Given the description of an element on the screen output the (x, y) to click on. 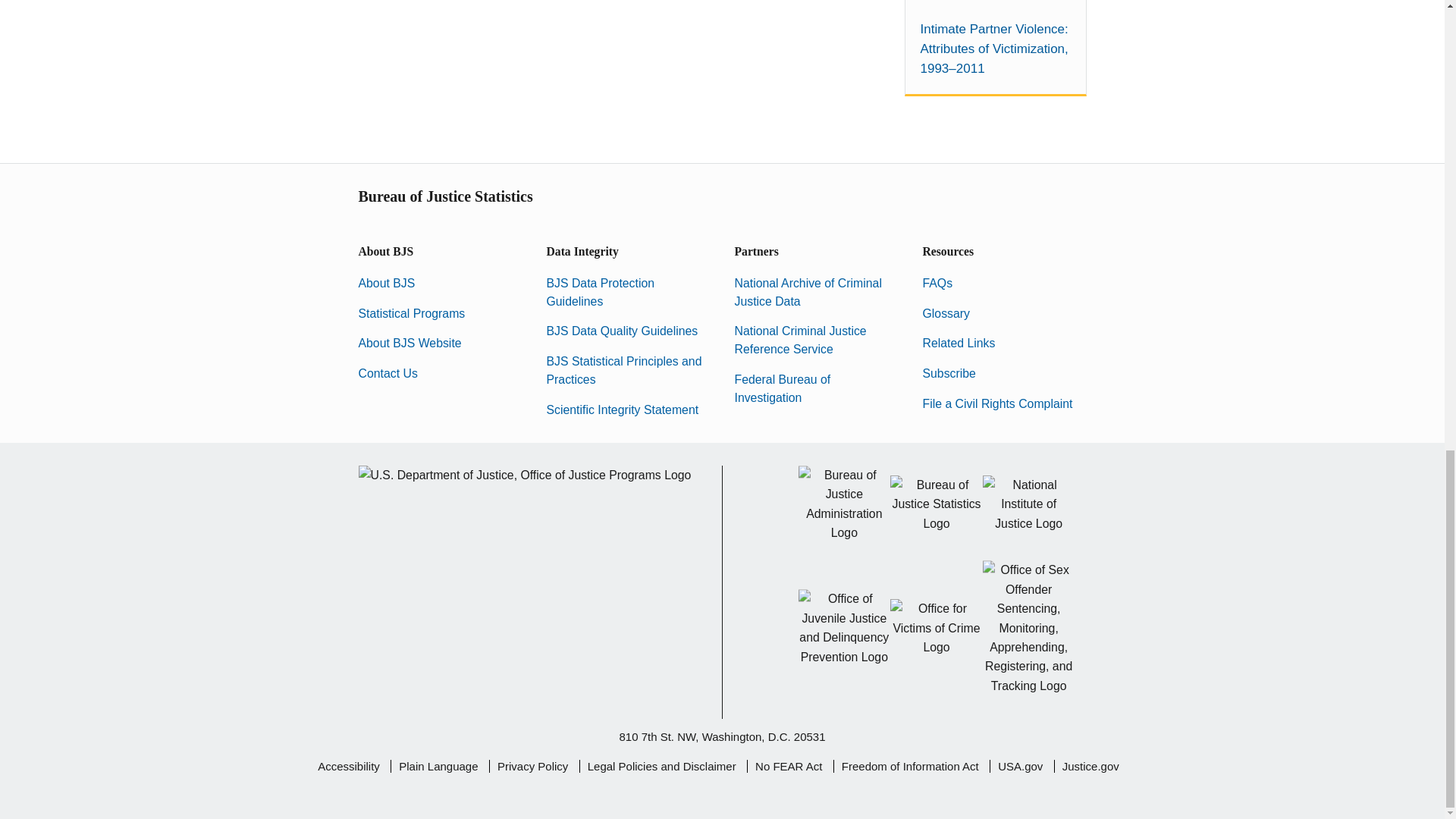
The Nation's Two Crime Measures (995, 2)
